Given the description of an element on the screen output the (x, y) to click on. 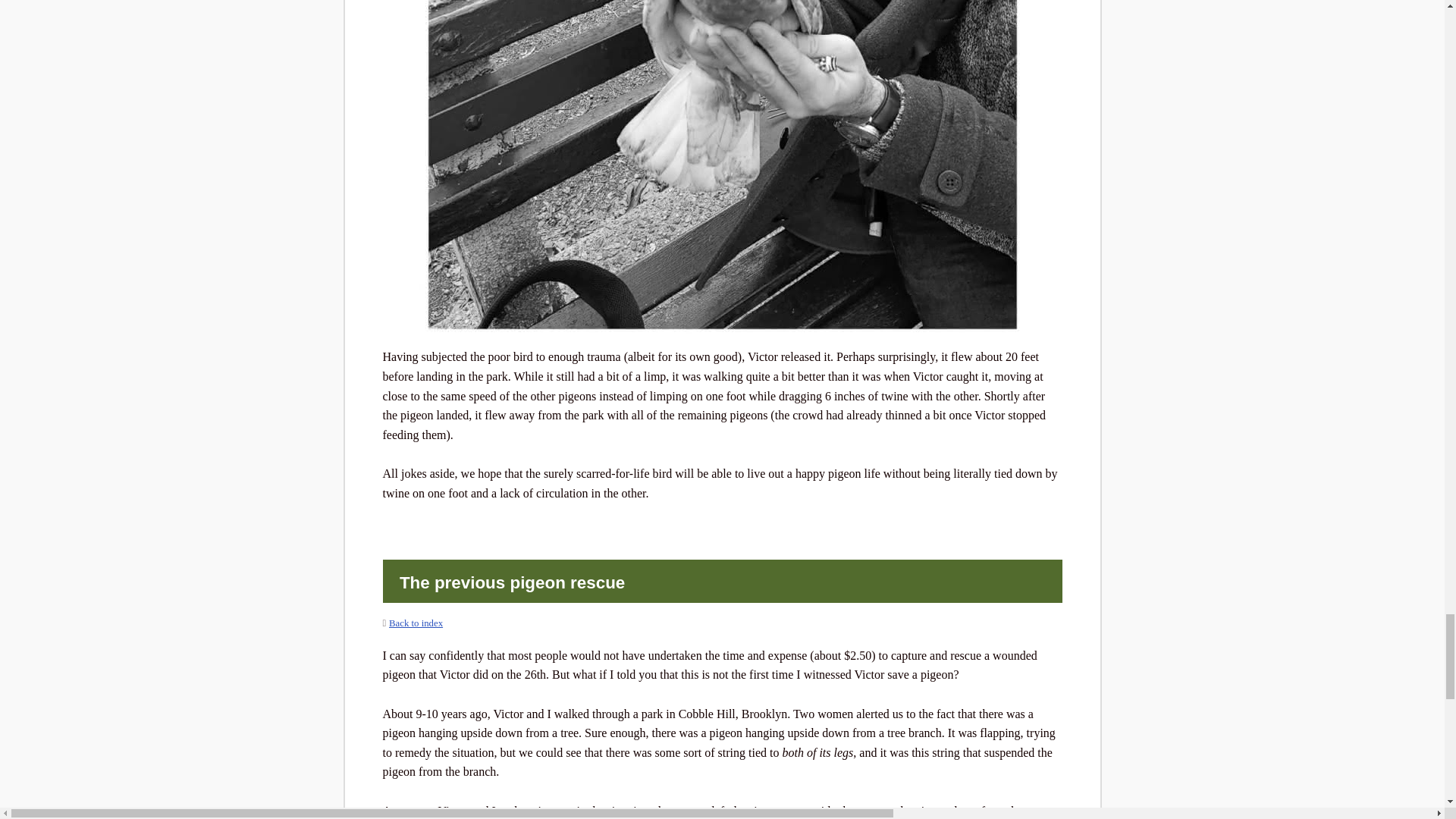
Back to index (415, 623)
